Given the description of an element on the screen output the (x, y) to click on. 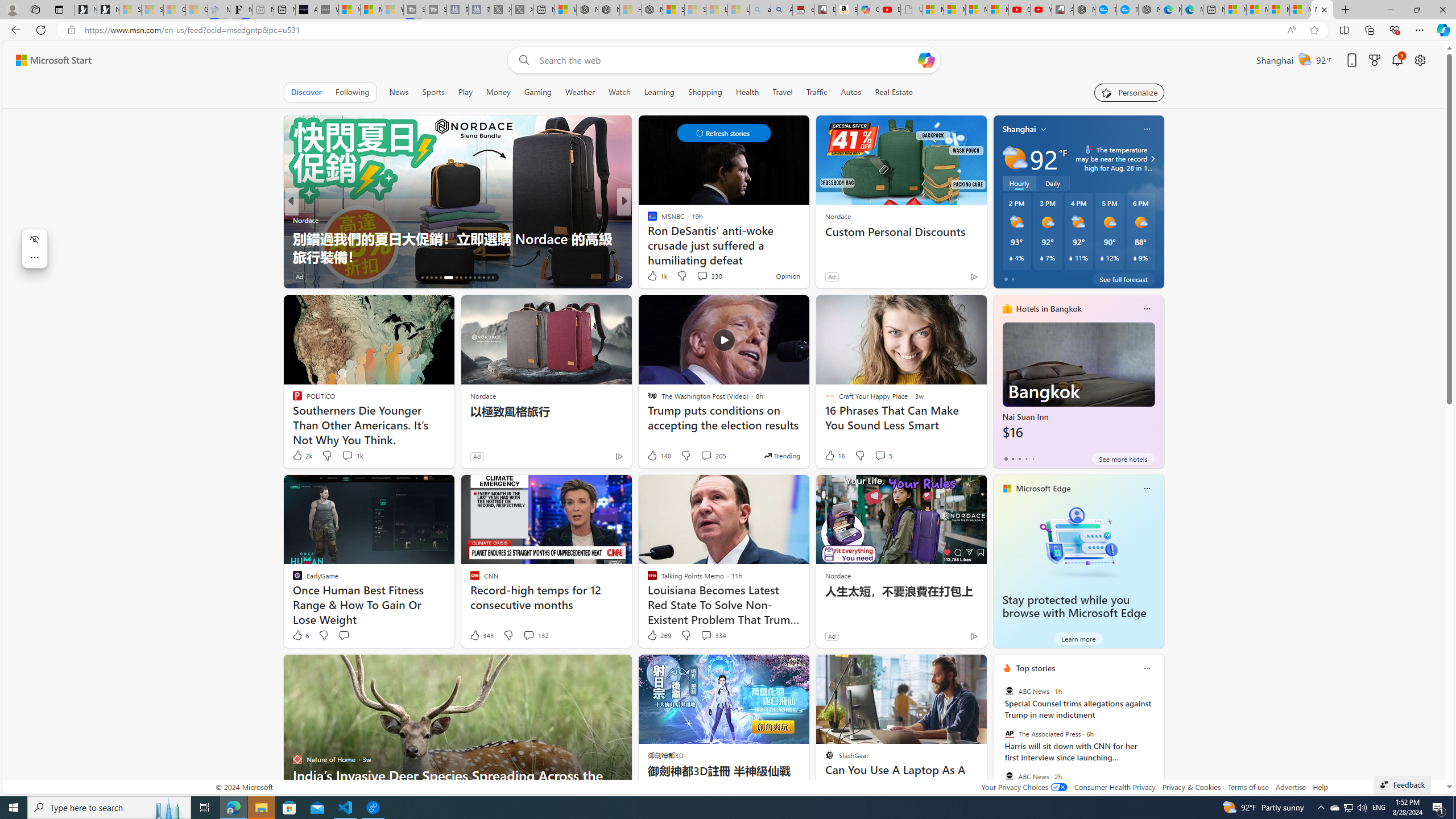
2k Like (301, 455)
Privacy & Cookies (1191, 786)
View comments 152 Comment (6, 276)
AutomationID: tab-26 (474, 277)
LGBTQ Nation (647, 219)
The words and phrases you should never use in work emails (807, 247)
626 Like (654, 276)
16 Like (834, 455)
